Given the description of an element on the screen output the (x, y) to click on. 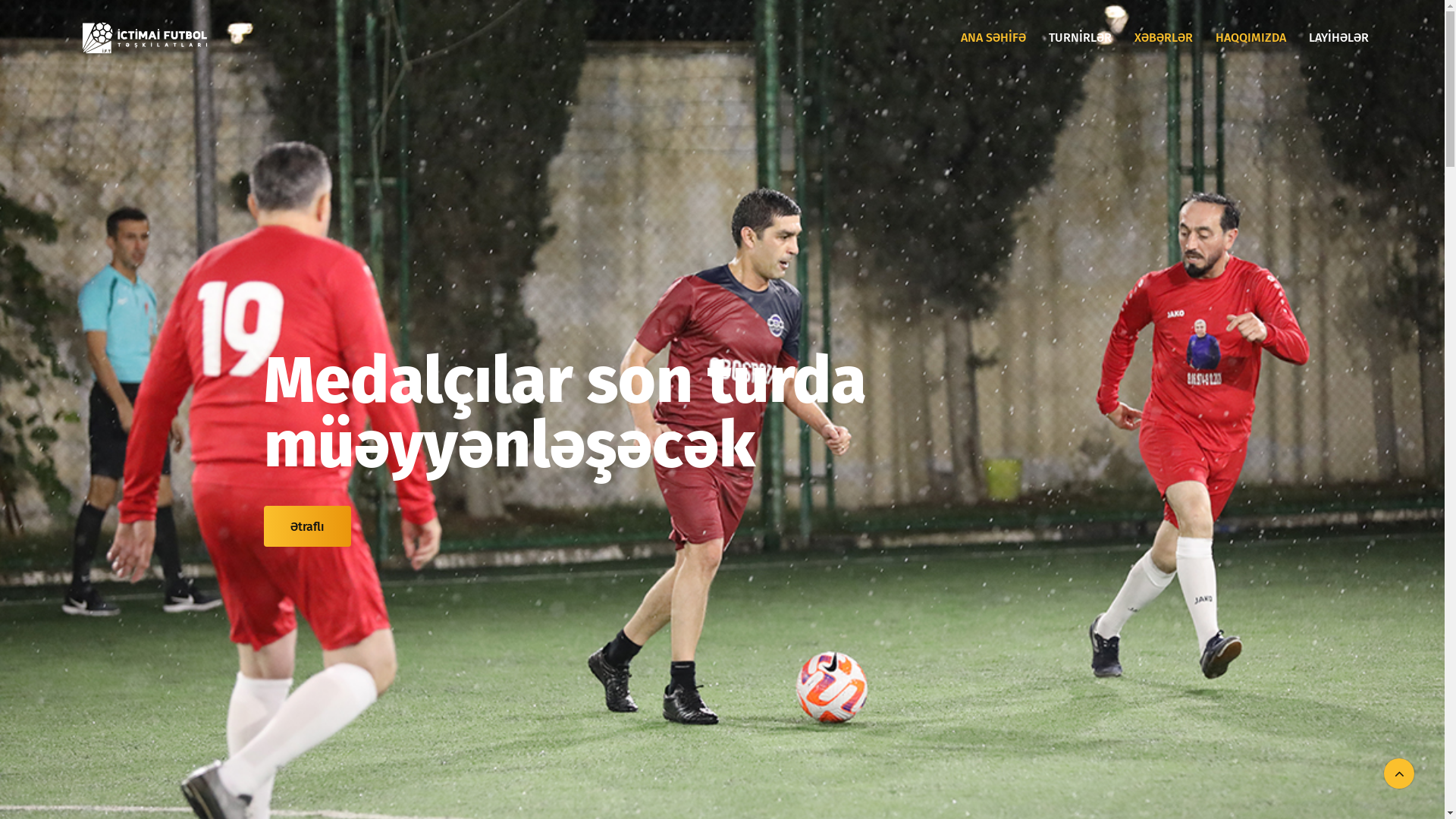
HAQQIMIZDA Element type: text (1250, 37)
